Given the description of an element on the screen output the (x, y) to click on. 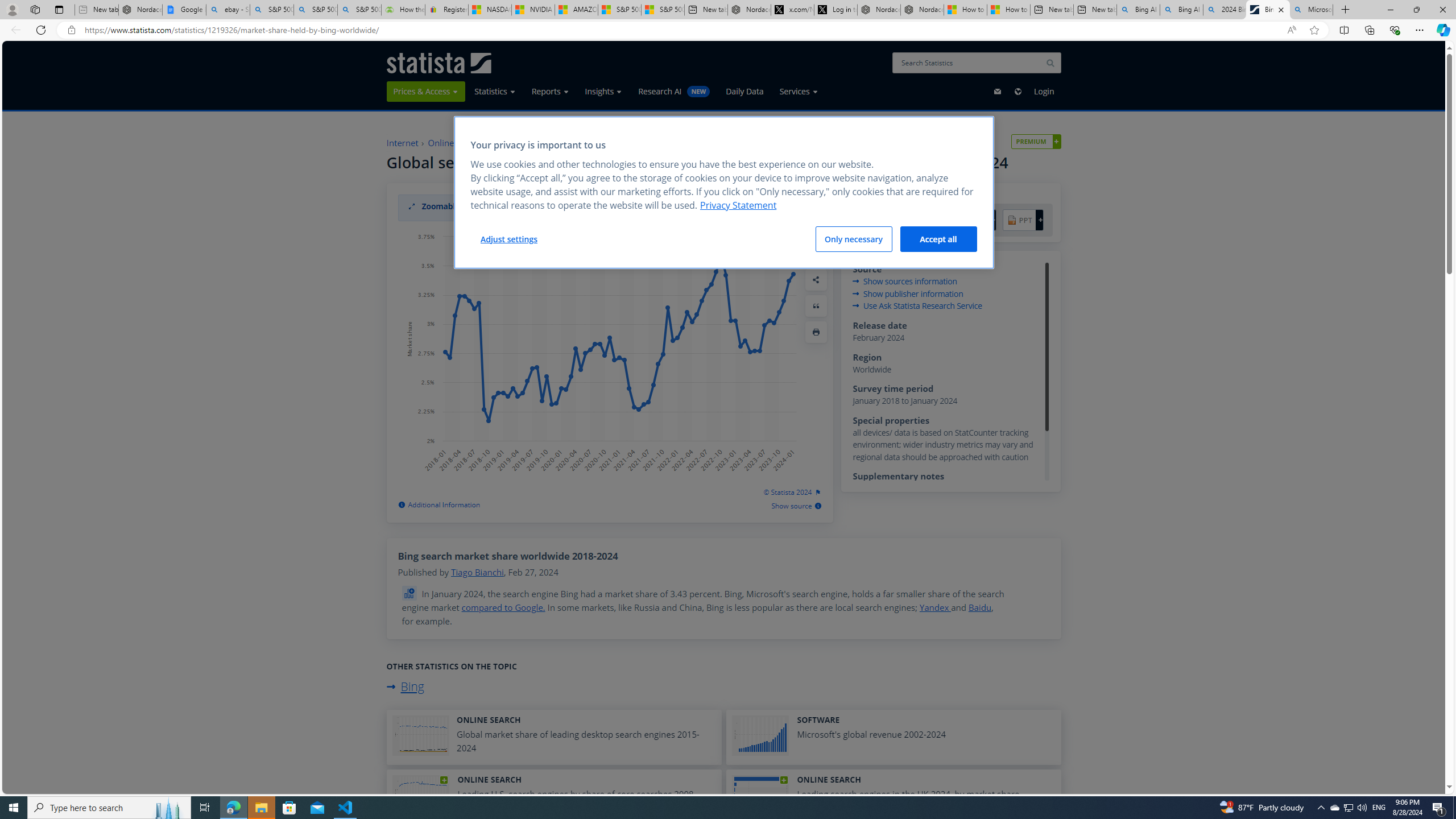
Yandex  (935, 607)
Show source (796, 506)
Bing (404, 686)
Statistics (494, 91)
Login (1044, 91)
Baidu (979, 607)
More information about your privacy, opens in a new tab (738, 204)
Research Alerts (816, 227)
Bing AI - Search (1181, 9)
Add Favorite (816, 201)
